Given the description of an element on the screen output the (x, y) to click on. 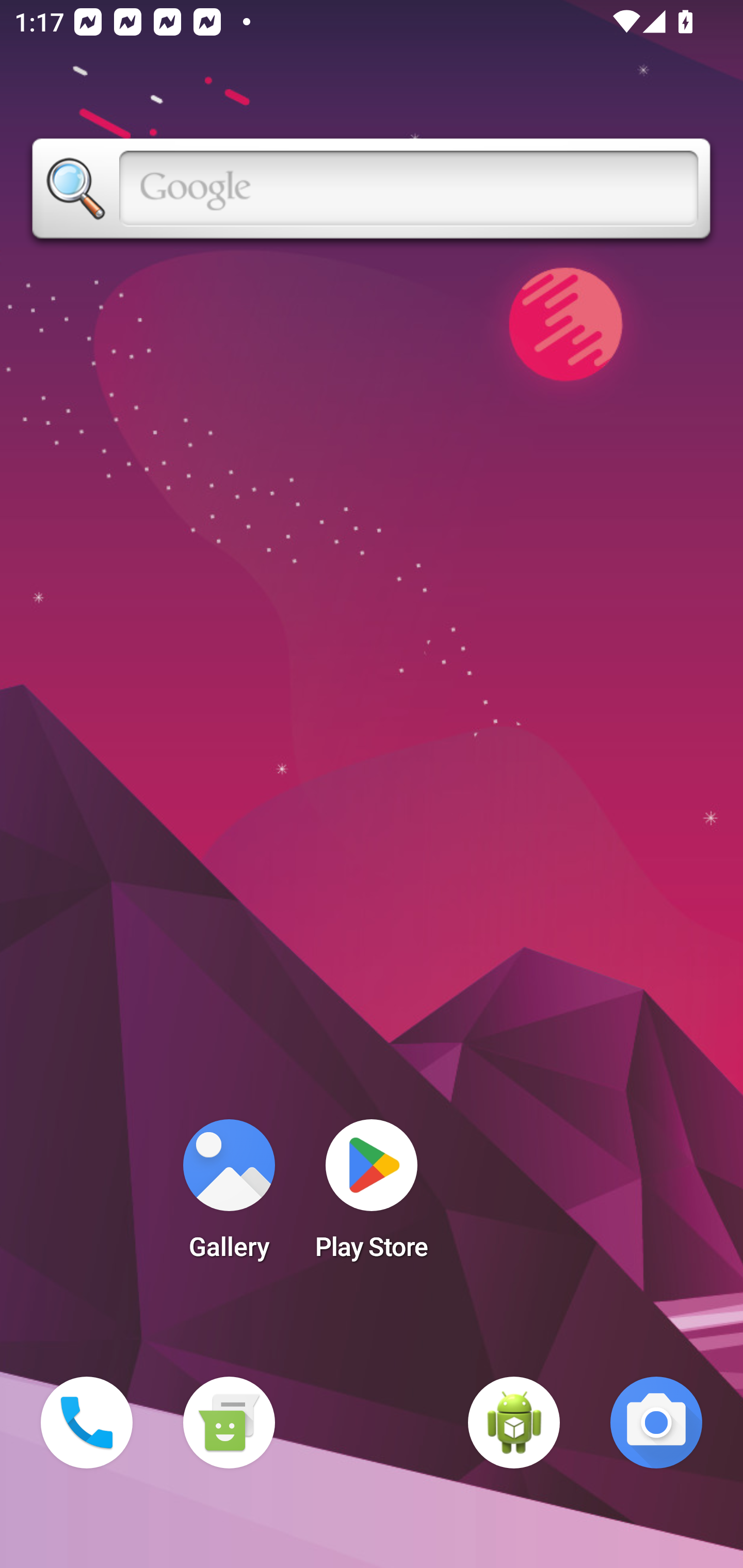
Gallery (228, 1195)
Play Store (371, 1195)
Phone (86, 1422)
Messaging (228, 1422)
WebView Browser Tester (513, 1422)
Camera (656, 1422)
